Given the description of an element on the screen output the (x, y) to click on. 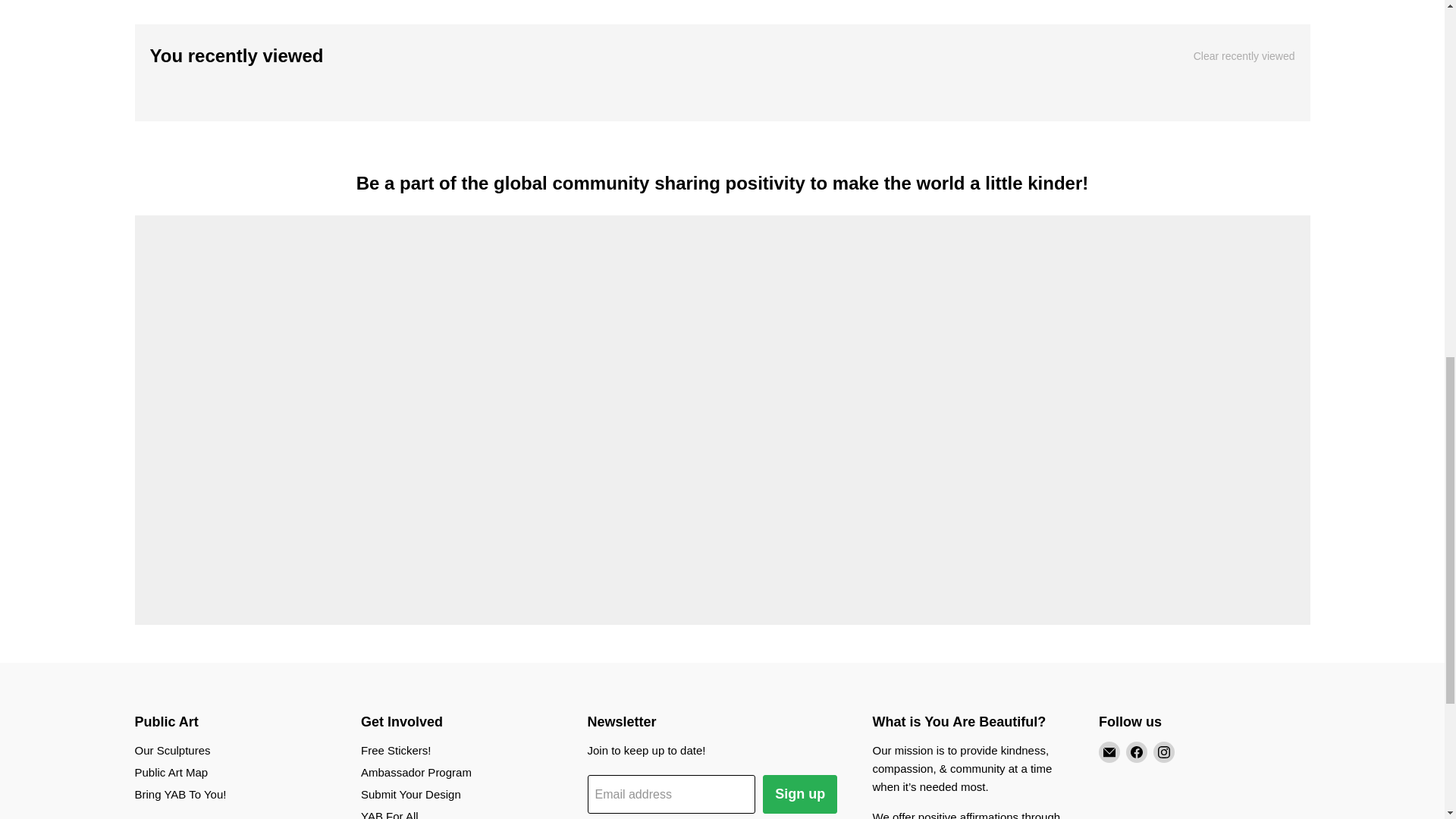
Instagram (1163, 752)
Email (1109, 752)
Facebook (1136, 752)
